Given the description of an element on the screen output the (x, y) to click on. 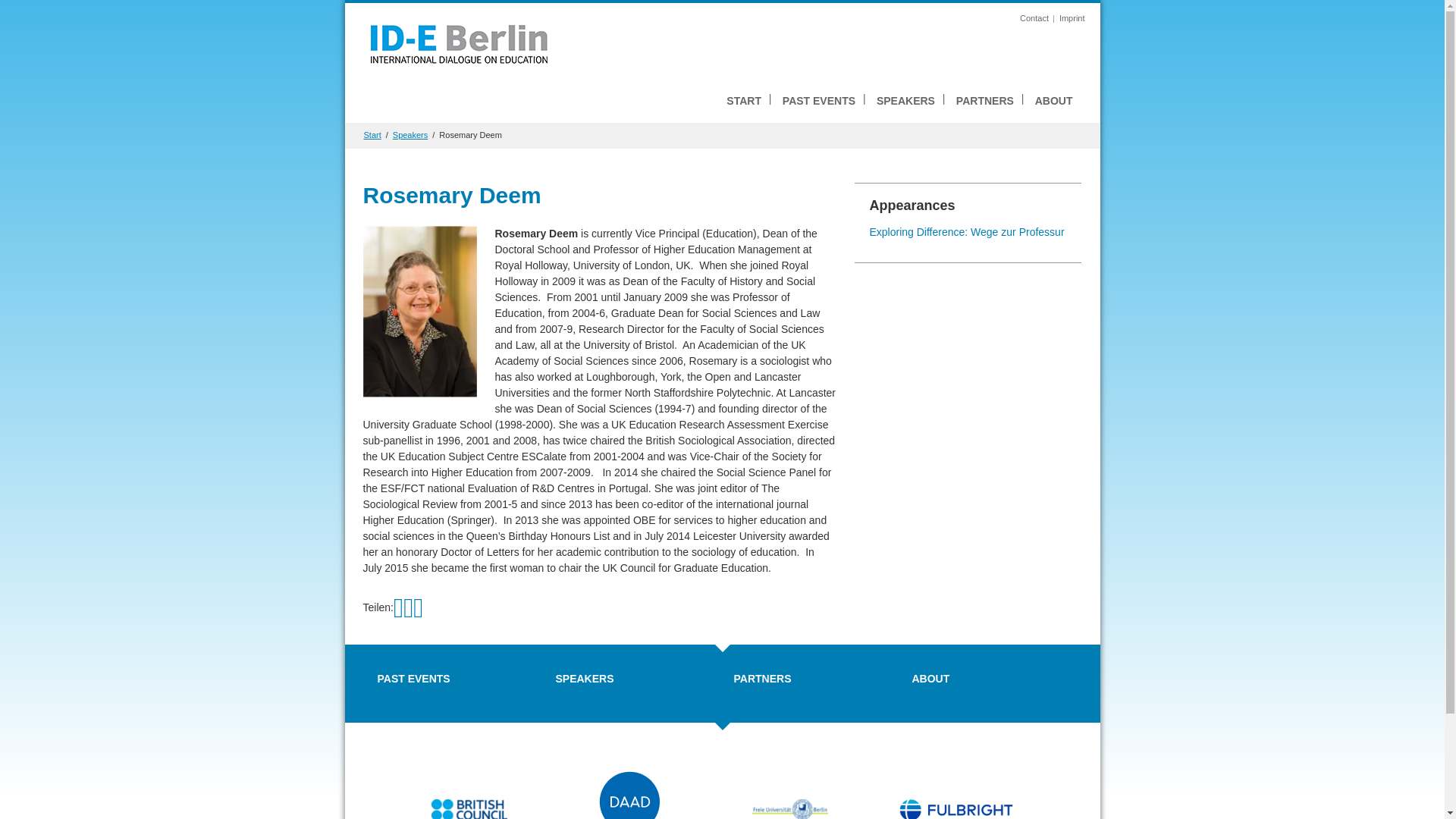
ID-E Berlin (457, 42)
ABOUT (1053, 101)
PAST EVENTS (818, 101)
ID-E Berlin (457, 42)
SPEAKERS (583, 678)
PARTNERS (762, 678)
PAST EVENTS (413, 678)
Rosemary Deem (470, 134)
START (743, 101)
Start (372, 134)
